Given the description of an element on the screen output the (x, y) to click on. 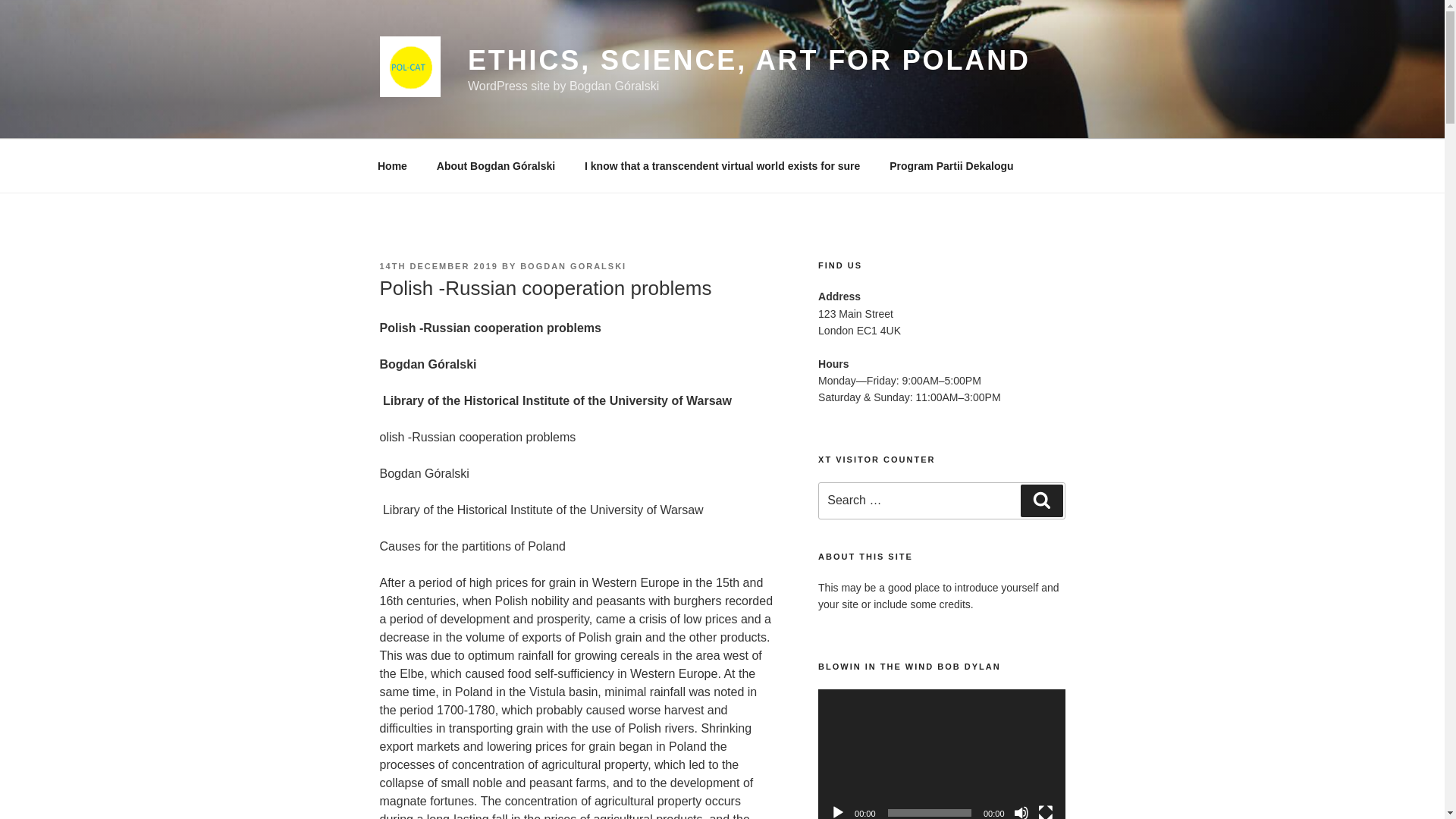
Mute (1020, 812)
ETHICS, SCIENCE, ART FOR POLAND (748, 60)
14TH DECEMBER 2019 (437, 266)
Play (837, 812)
I know that a transcendent virtual world exists for sure (722, 165)
Search (1041, 500)
Program Partii Dekalogu (951, 165)
Fullscreen (1044, 812)
BOGDAN GORALSKI (572, 266)
Home (392, 165)
